Given the description of an element on the screen output the (x, y) to click on. 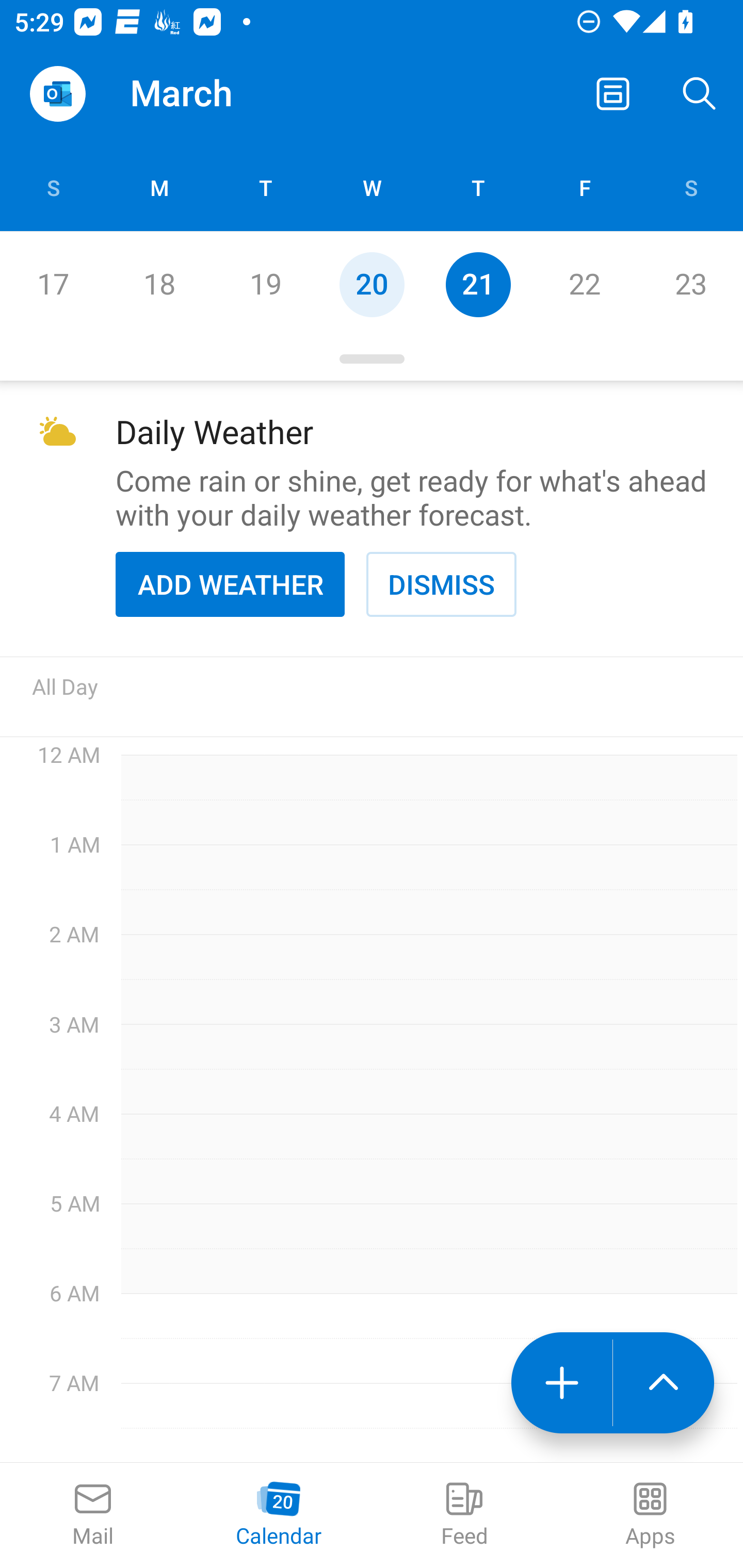
March March 2024, day picker (209, 93)
Switch away from Day view (612, 93)
Search, ,  (699, 93)
Open Navigation Drawer (57, 94)
17 Sunday, March 17 (53, 284)
18 Monday, March 18 (159, 284)
19 Tuesday, March 19 (265, 284)
20 Wednesday, March 20, today (371, 284)
21 Thursday, March 21, Selected (477, 284)
22 Friday, March 22 (584, 284)
23 Saturday, March 23 (690, 284)
Day picker (371, 359)
ADD WEATHER (230, 583)
DISMISS (440, 583)
New event (561, 1382)
launch the extended action menu (663, 1382)
Mail (92, 1515)
Feed (464, 1515)
Apps (650, 1515)
